Given the description of an element on the screen output the (x, y) to click on. 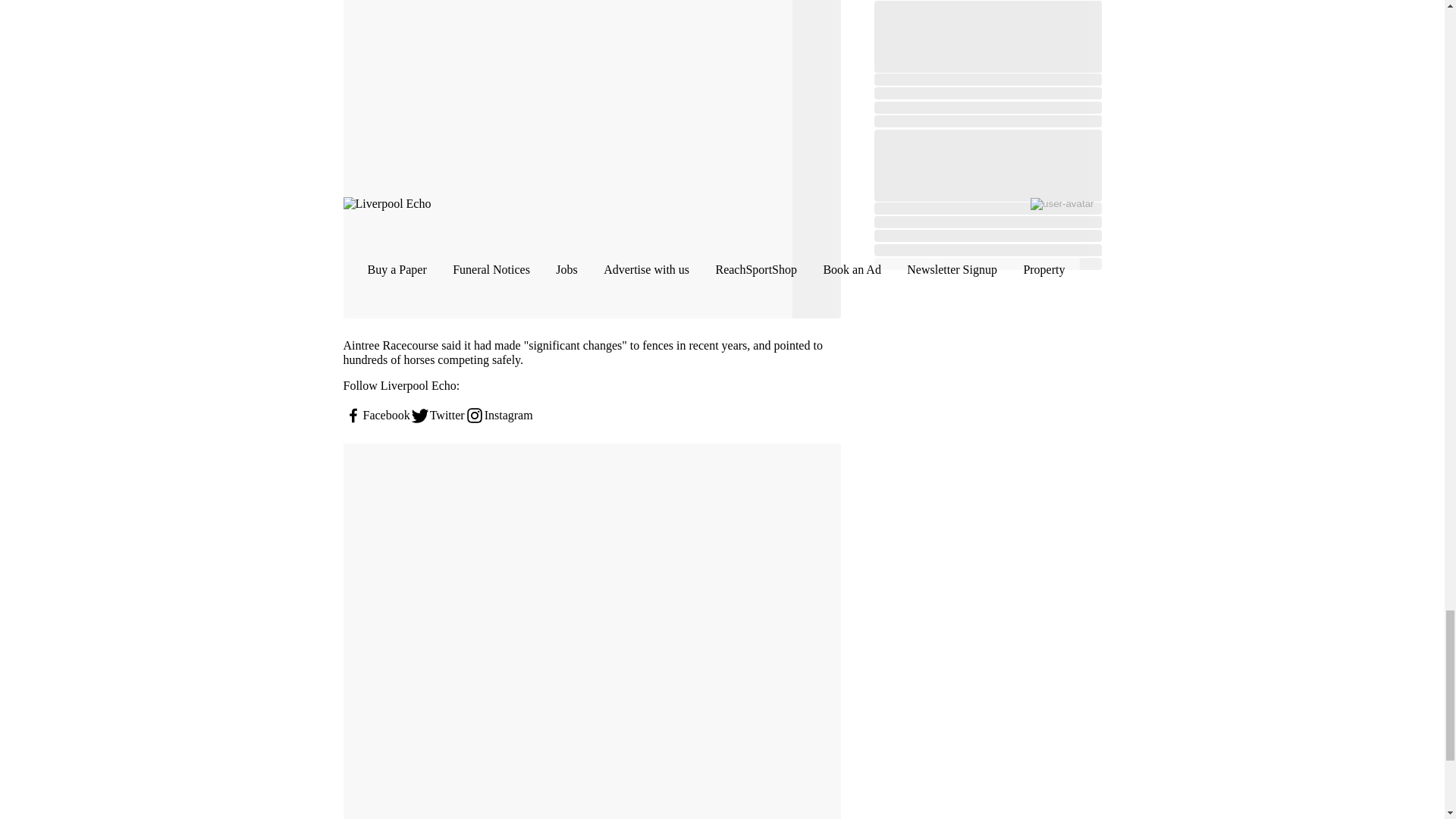
Twitter (437, 415)
Instagram (498, 415)
Facebook (375, 415)
